Given the description of an element on the screen output the (x, y) to click on. 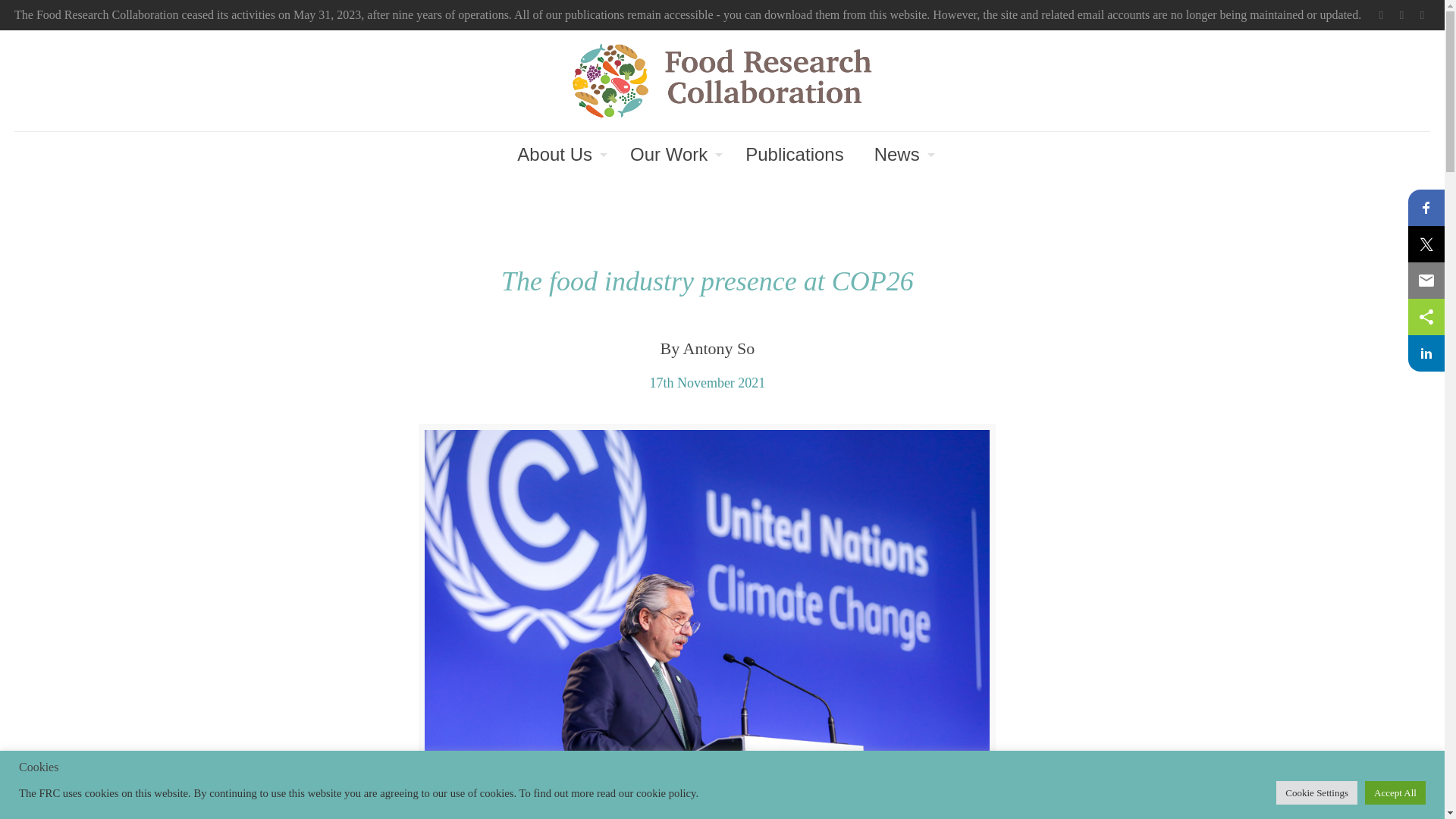
About Us (558, 154)
YouTube (1401, 15)
Food Research Collaboration (721, 80)
Flickr (1421, 15)
Twitter (1381, 15)
Our Work (672, 154)
